Given the description of an element on the screen output the (x, y) to click on. 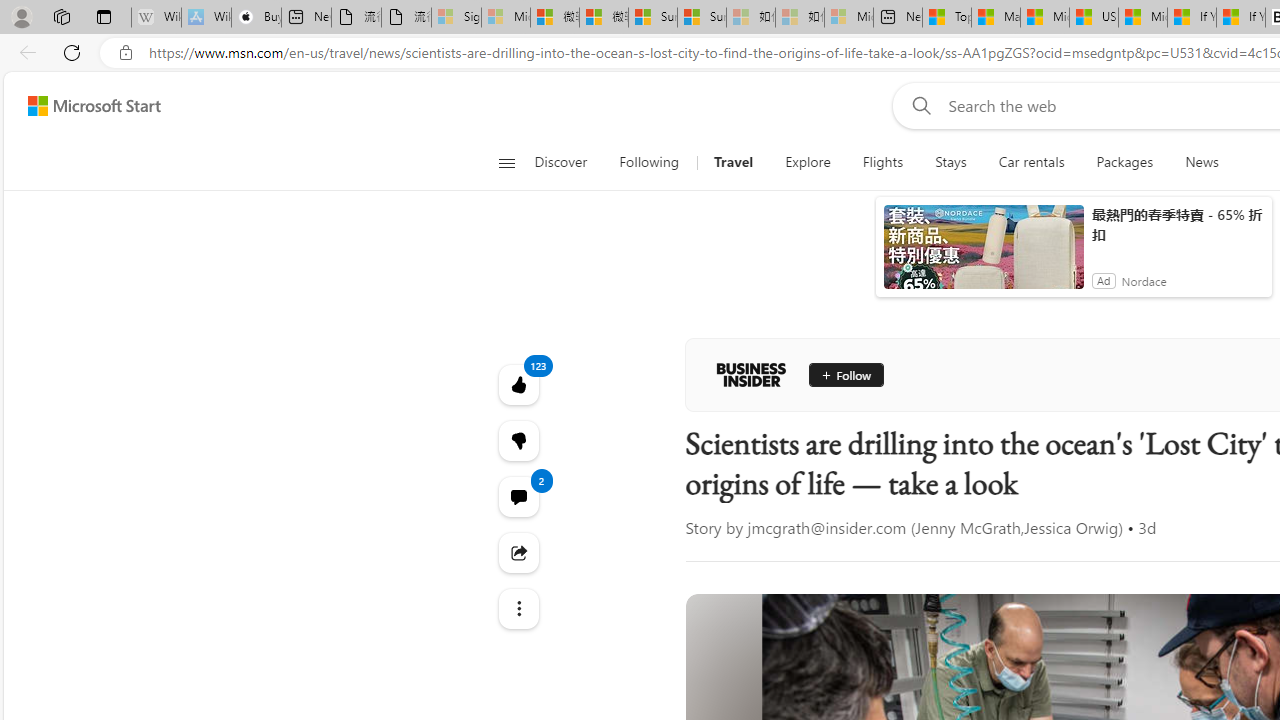
Business Insider (751, 374)
anim-content (983, 255)
Packages (1124, 162)
Marine life - MSN (995, 17)
Flights (882, 162)
